Given the description of an element on the screen output the (x, y) to click on. 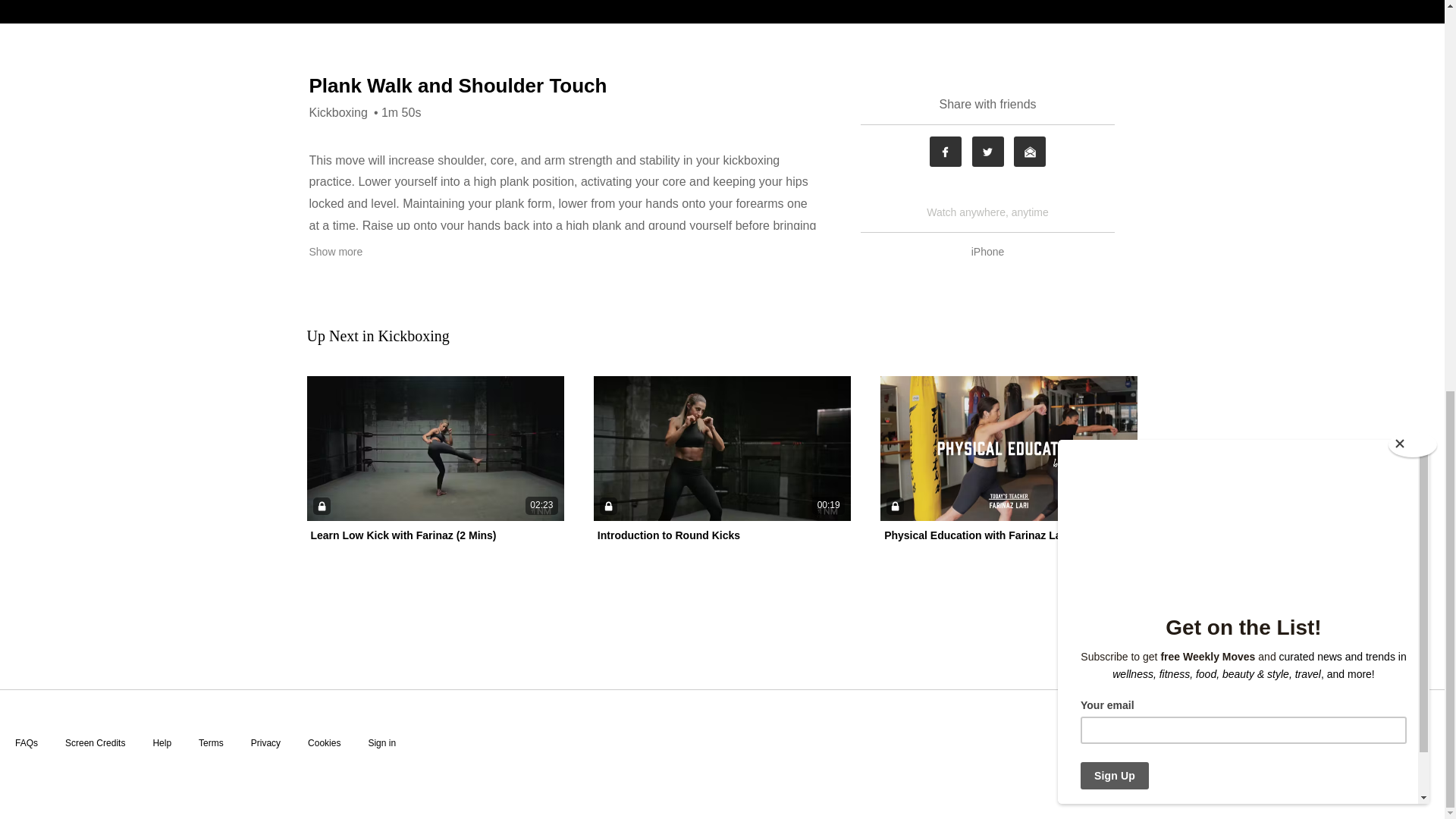
Introduction to Round Kicks (667, 535)
Kickboxing (412, 335)
Facebook (945, 151)
Physical Education with Farinaz Lari ... (981, 535)
02:23 (434, 447)
Physical Education with Farinaz Lari ... (981, 535)
Email (1029, 151)
00:19 (722, 447)
iPhone (988, 251)
FAQs (25, 742)
09:21 (1008, 447)
Introduction to Round Kicks (667, 535)
Twitter (988, 151)
Kickboxing (338, 112)
